Given the description of an element on the screen output the (x, y) to click on. 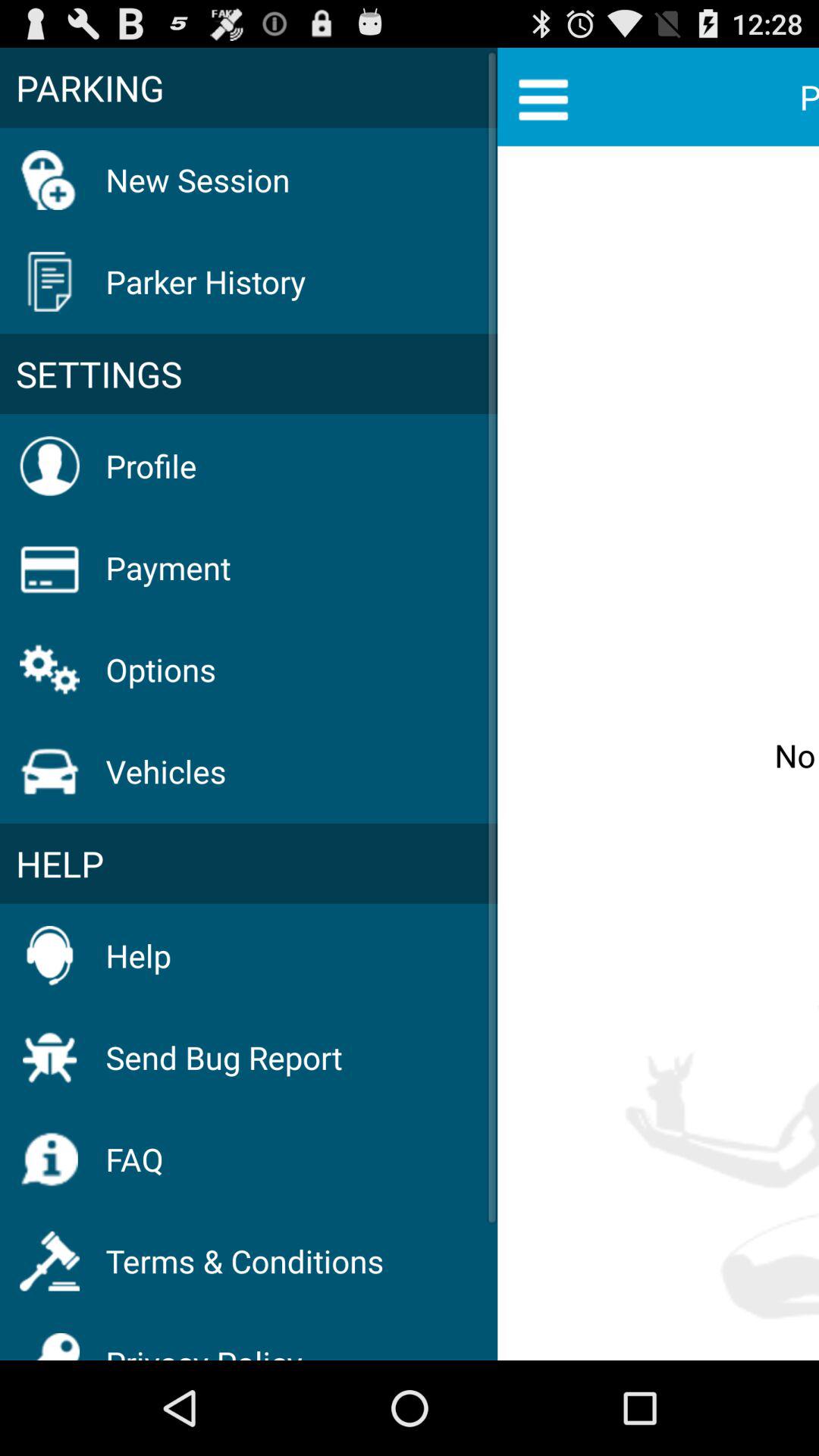
swipe to the options icon (160, 668)
